Given the description of an element on the screen output the (x, y) to click on. 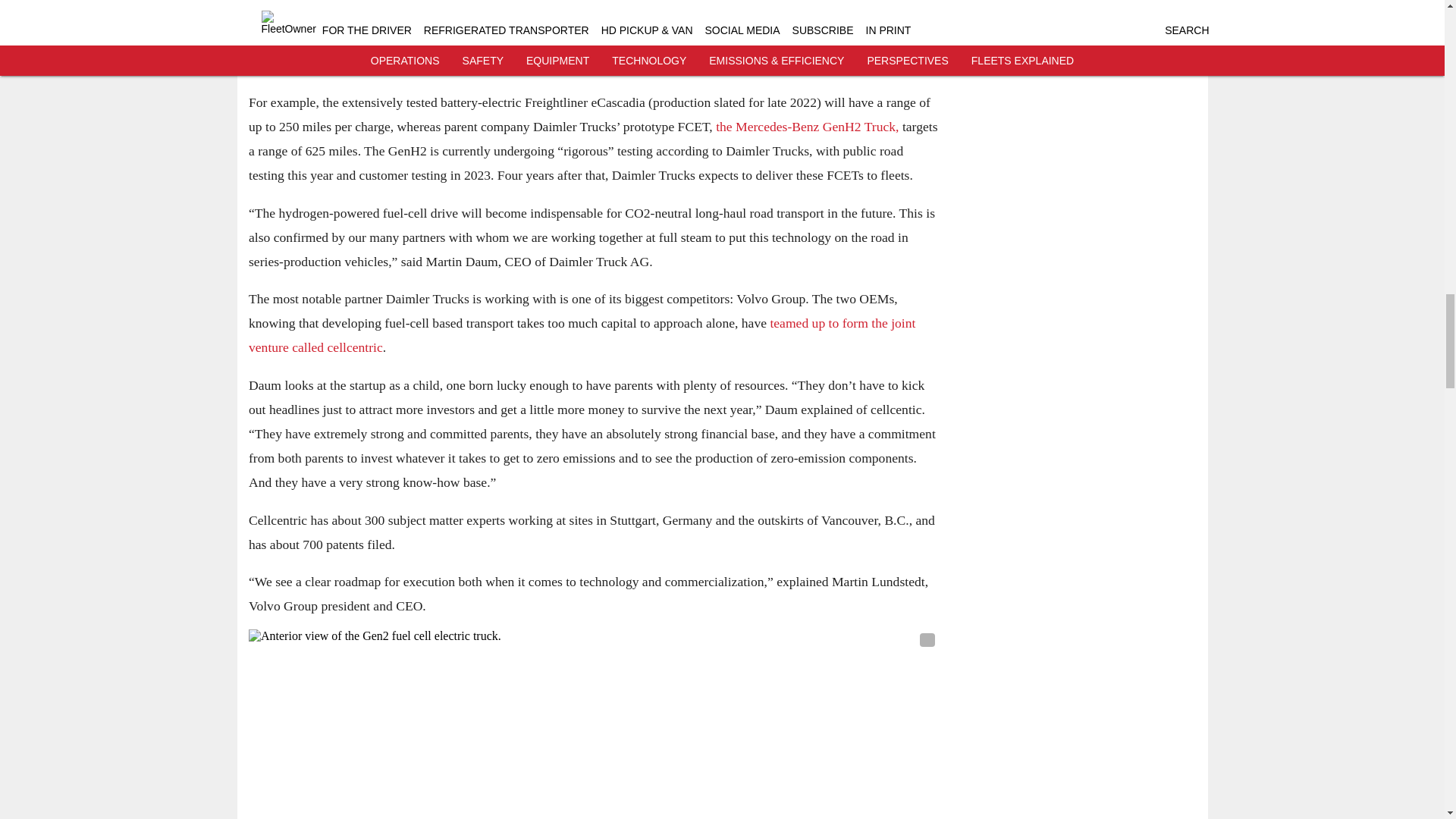
teamed up to form the joint venture called cellcentric (581, 334)
the Mercedes-Benz GenH2 Truck, (807, 126)
Anterior view of the Gen2 fuel cell electric truck. (593, 724)
